Given the description of an element on the screen output the (x, y) to click on. 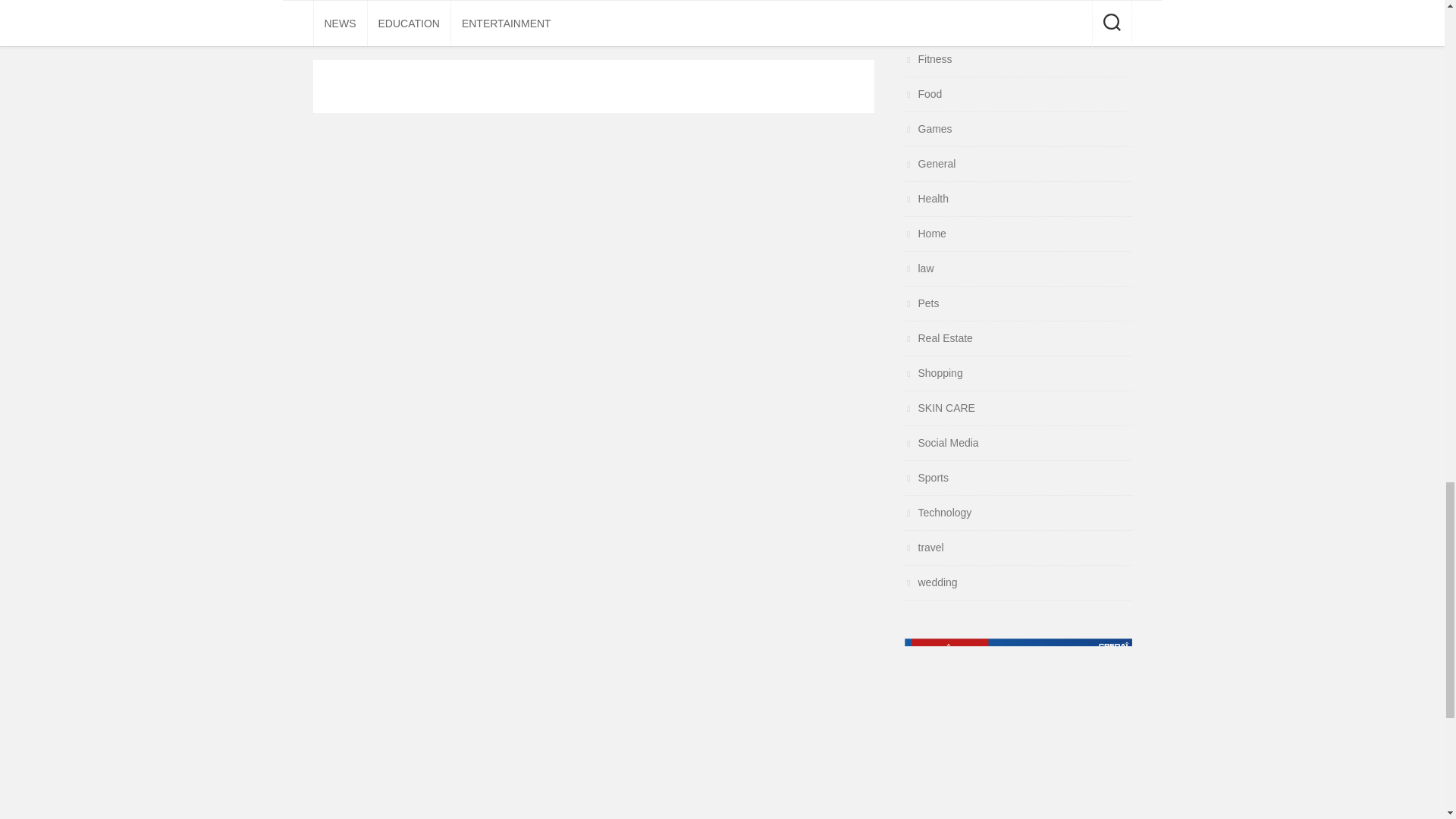
Games (928, 128)
Food (923, 93)
Finance (929, 24)
Fitness (928, 59)
